Given the description of an element on the screen output the (x, y) to click on. 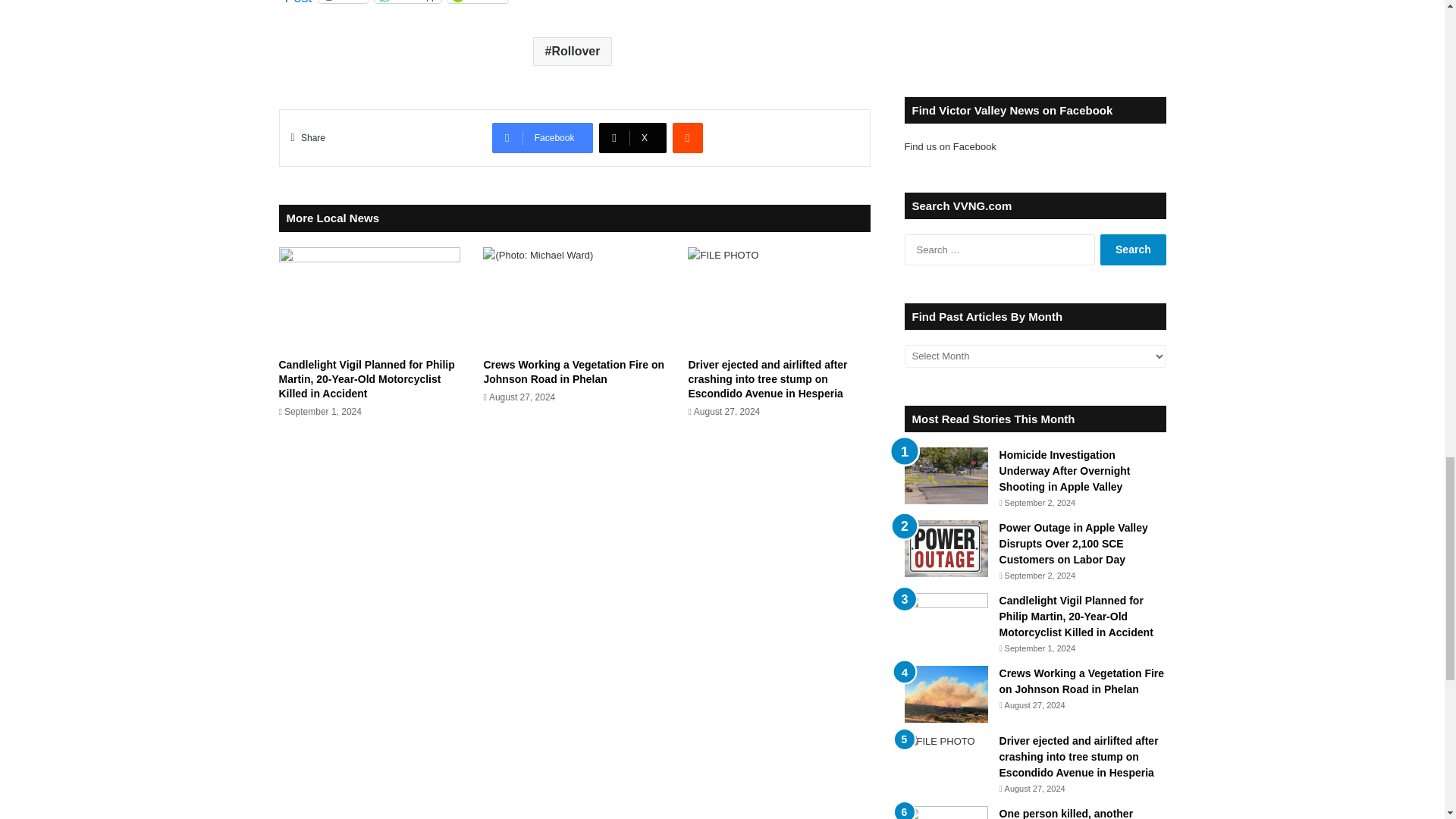
Post (299, 0)
Click to share on Nextdoor (477, 1)
Reddit (343, 1)
Search (1133, 249)
WhatsApp (407, 1)
Nextdoor (477, 1)
Click to share on WhatsApp (407, 1)
Search (1133, 249)
Click to share on Reddit (343, 1)
